Given the description of an element on the screen output the (x, y) to click on. 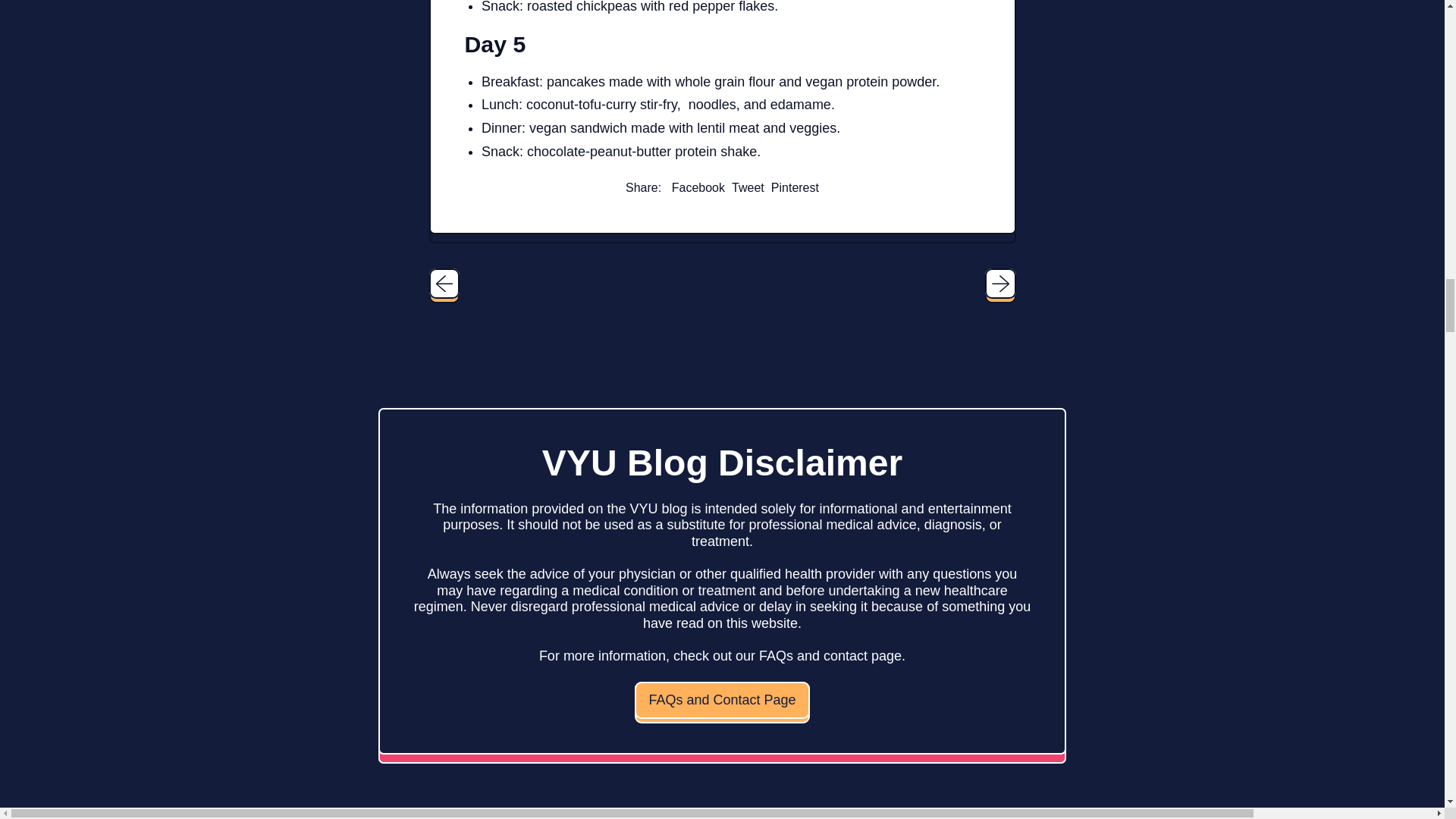
FAQs and Contact Page (698, 187)
